Given the description of an element on the screen output the (x, y) to click on. 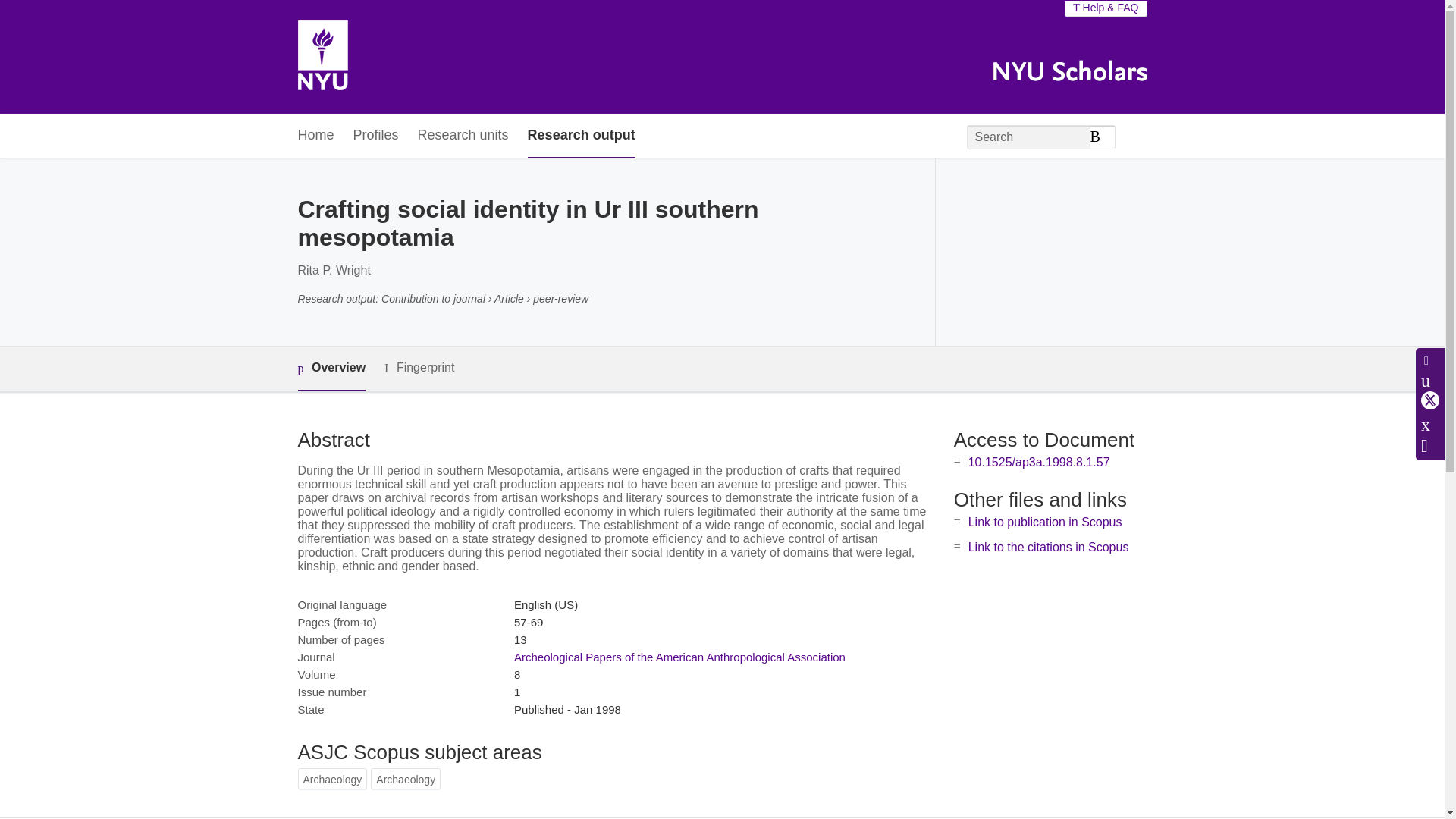
Link to publication in Scopus (1045, 521)
Home (315, 135)
NYU Scholars Home (322, 56)
Fingerprint (419, 367)
Overview (331, 368)
Link to the citations in Scopus (1048, 546)
Profiles (375, 135)
Research output (580, 135)
Research units (462, 135)
